Given the description of an element on the screen output the (x, y) to click on. 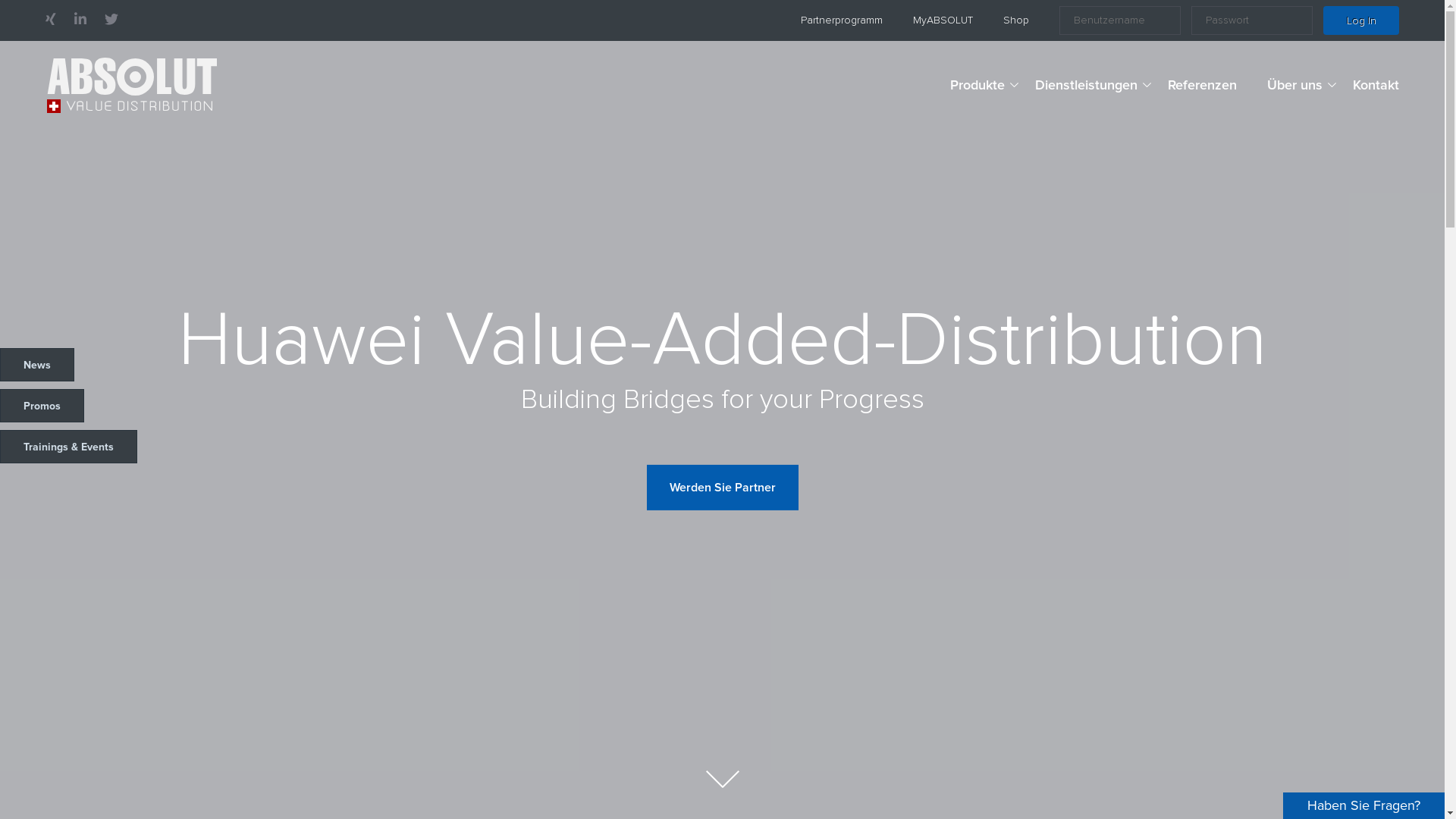
News Element type: text (37, 364)
Shop Element type: text (1016, 20)
Log In Element type: text (1361, 20)
Werden Sie Partner Element type: text (721, 486)
Promos Element type: text (42, 405)
Dienstleistungen Element type: text (1086, 84)
Trainings & Events Element type: text (68, 446)
Produkte Element type: text (977, 84)
Kontakt Element type: text (1375, 84)
MyABSOLUT Element type: text (942, 20)
Partnerprogramm Element type: text (841, 20)
Referenzen Element type: text (1201, 84)
